Given the description of an element on the screen output the (x, y) to click on. 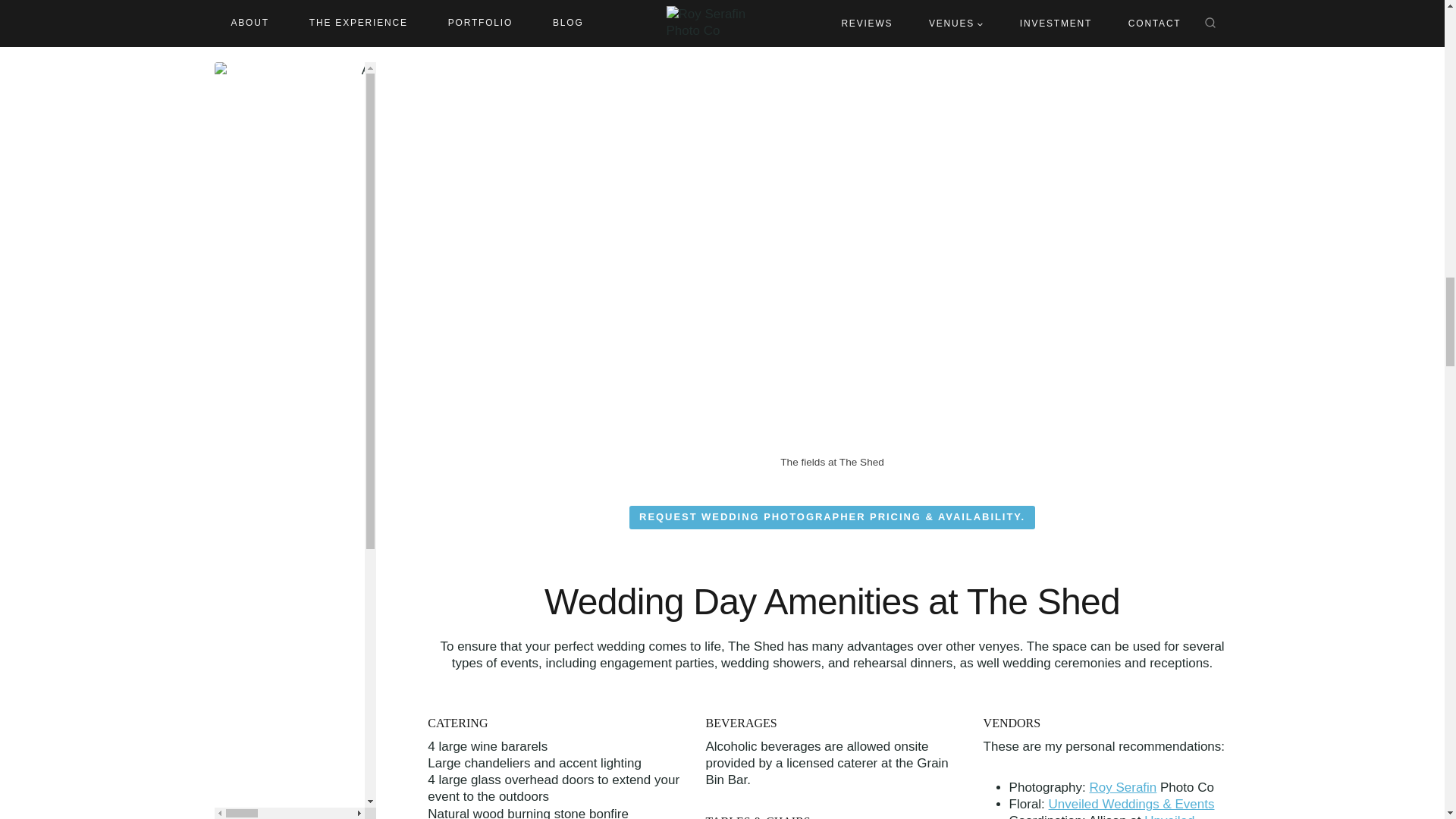
Roy Serafin (1122, 787)
Roy Serafin (1122, 787)
